Given the description of an element on the screen output the (x, y) to click on. 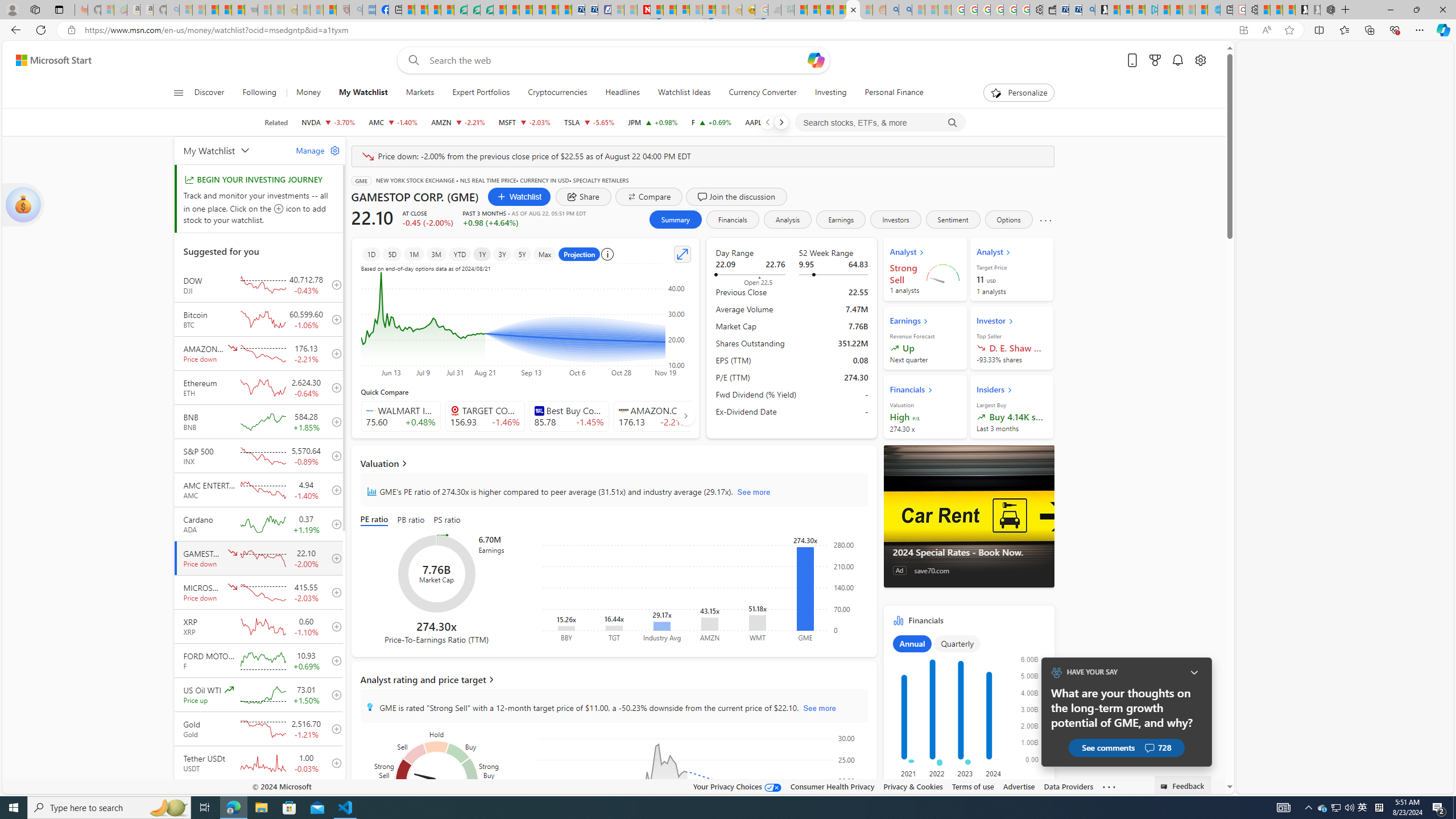
Quarterly (956, 643)
1M (413, 254)
Financials (968, 707)
Watchlist Ideas (683, 92)
Terms of use (973, 786)
F FORD MOTOR COMPANY increase 10.93 +0.08 +0.69% (711, 122)
Compare (648, 196)
